Given the description of an element on the screen output the (x, y) to click on. 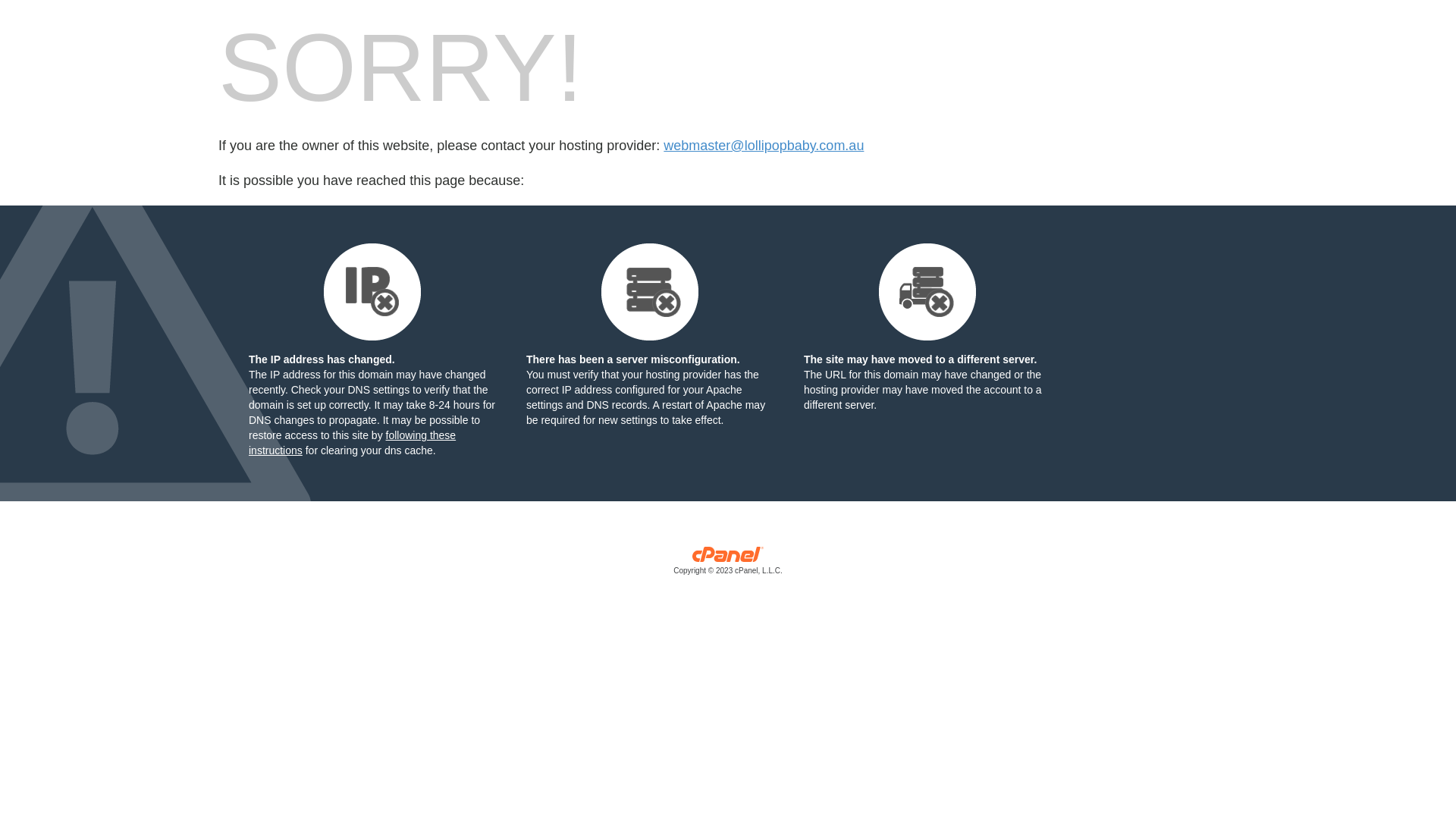
webmaster@lollipopbaby.com.au Element type: text (763, 145)
following these instructions Element type: text (351, 442)
